Given the description of an element on the screen output the (x, y) to click on. 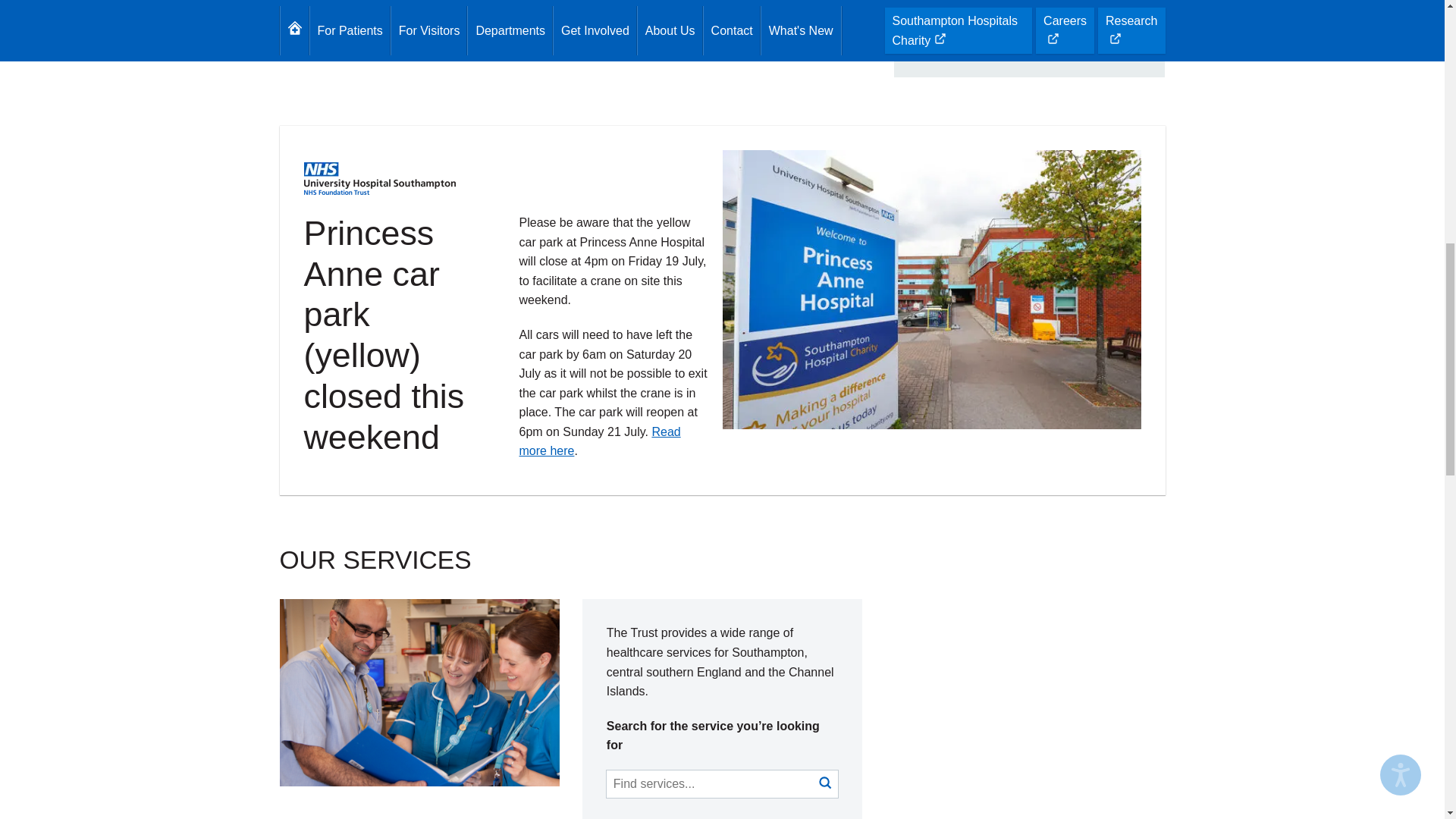
023 8077 7222 (954, 4)
Read more here (598, 441)
Search submit (825, 783)
More about this hospital (582, 19)
Map link (954, 40)
